Given the description of an element on the screen output the (x, y) to click on. 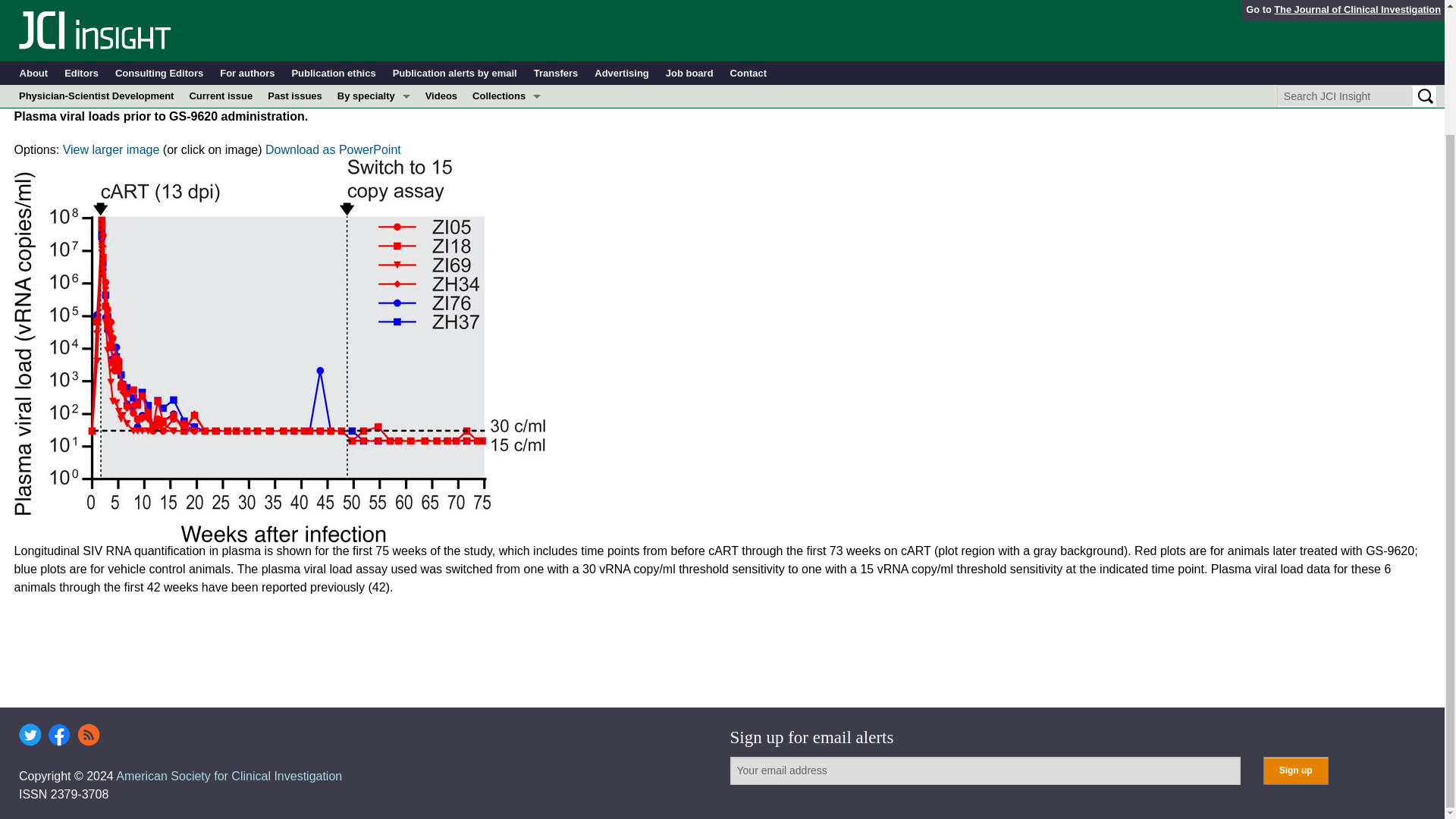
Reviews (506, 104)
Physician-Scientist Development (506, 81)
Cardiology (373, 1)
Twitter (30, 734)
Nephrology (373, 58)
All ... (373, 127)
Editorials (506, 36)
Perspectives (506, 58)
Sign up (1295, 770)
Clinical Medicine (506, 13)
RSS (88, 734)
Oncology (373, 81)
Immunology (373, 13)
Facebook (58, 734)
Pulmonology (373, 104)
